Given the description of an element on the screen output the (x, y) to click on. 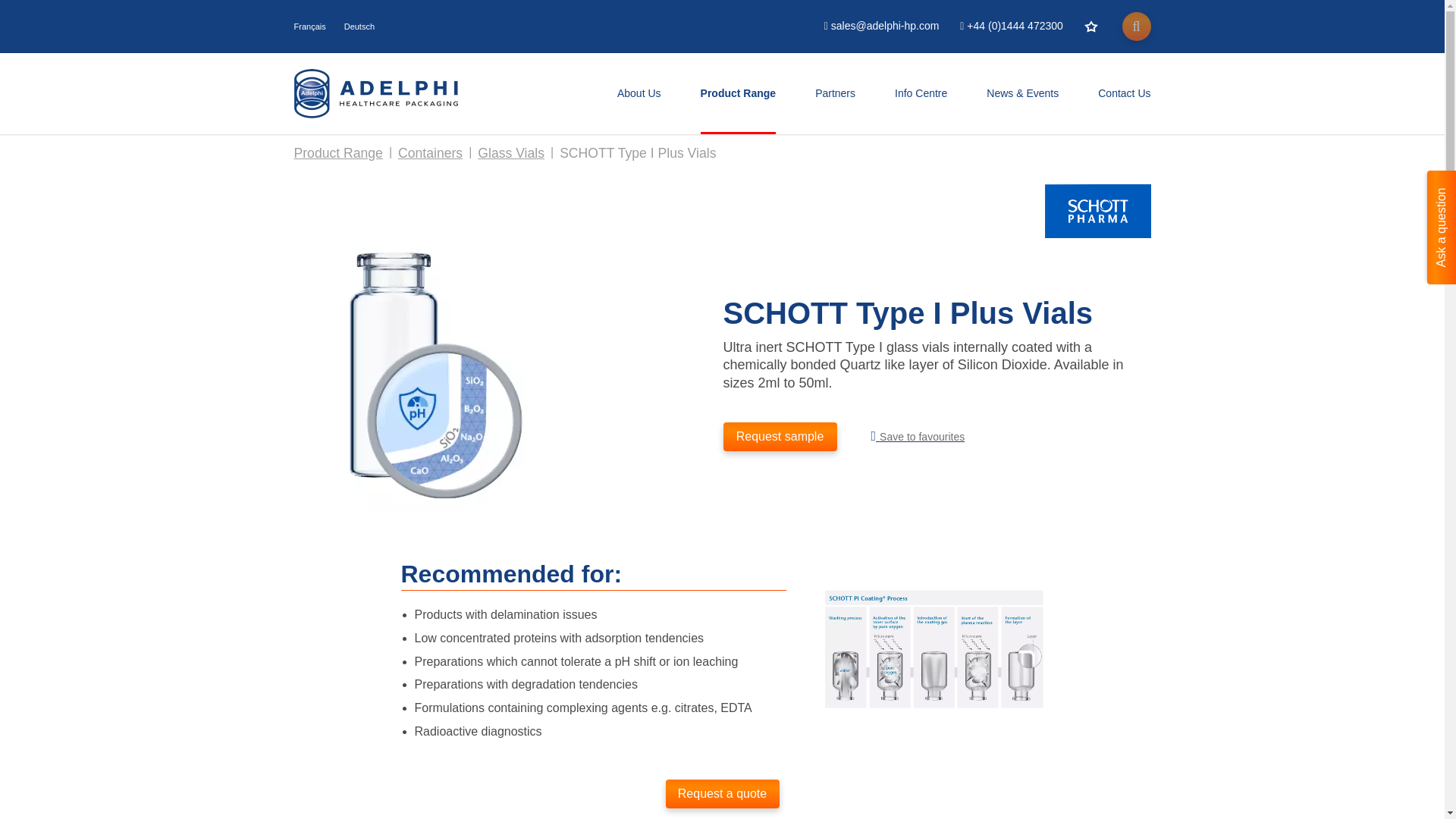
Contact Adelphi by phone (1010, 25)
About Us (639, 92)
Partners (835, 92)
Favorites Adelphi (1090, 25)
Search Adelphi (1136, 26)
Contact Adelphi by email (881, 25)
Deutsch (358, 26)
Product Range (738, 92)
